Given the description of an element on the screen output the (x, y) to click on. 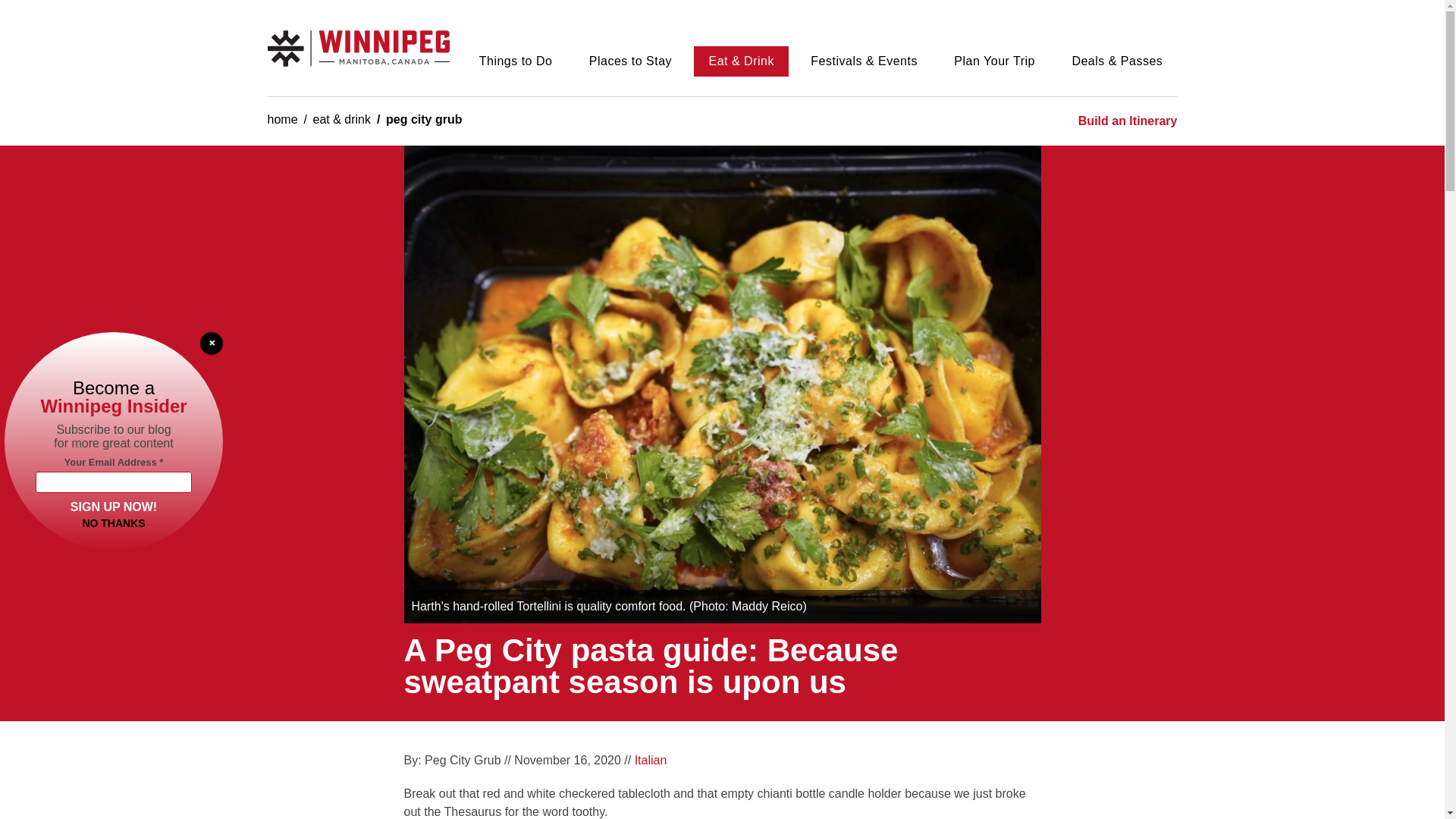
Email to a Friend (1017, 765)
Share on Facebook (921, 765)
Things to Do (515, 60)
Share on LinkedIn (985, 765)
Sign Up Now! (114, 505)
Plan Your Trip (994, 60)
Places to Stay (631, 60)
Share on Twitter (953, 765)
